Given the description of an element on the screen output the (x, y) to click on. 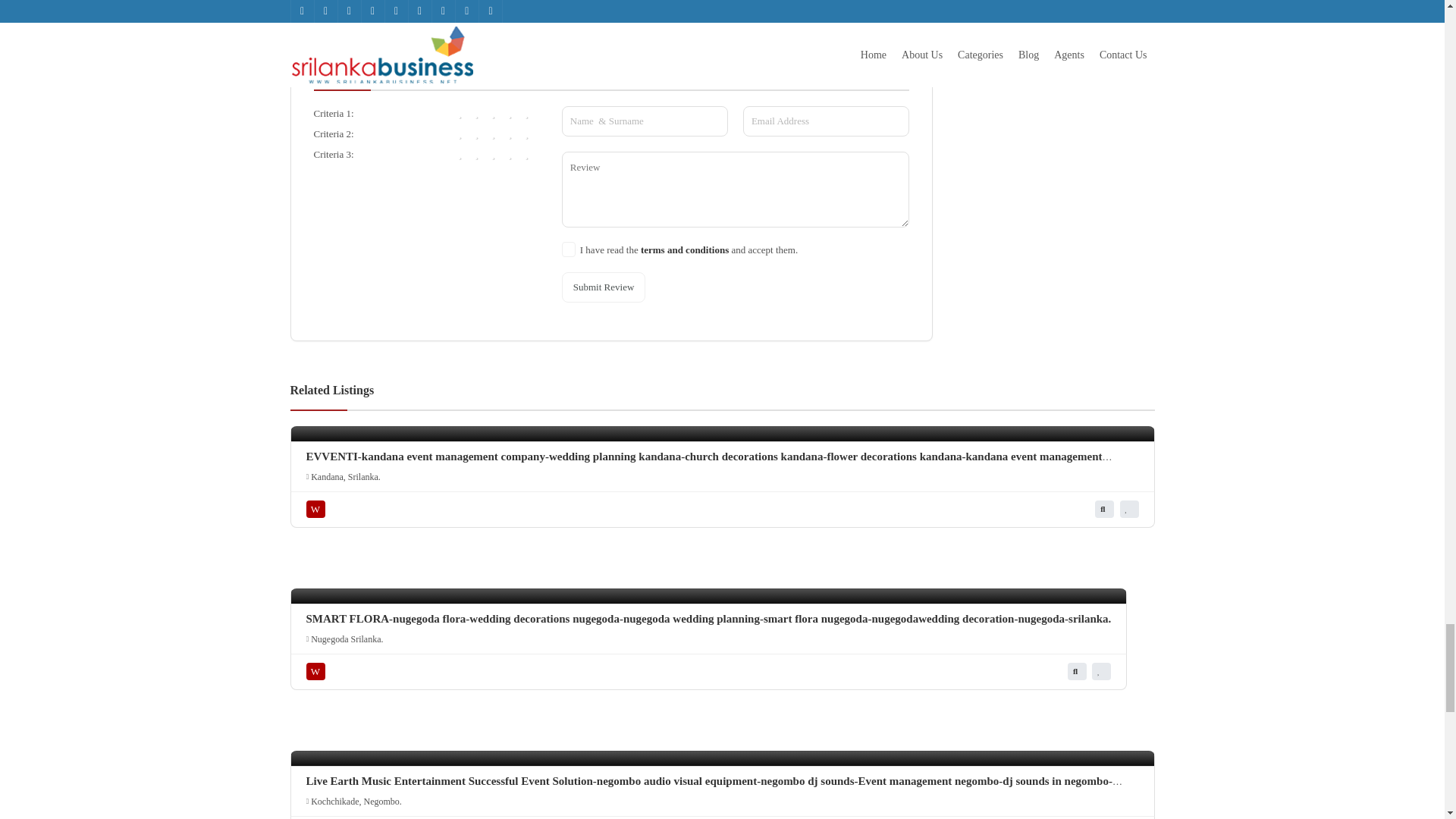
Wedding Planning (317, 671)
Wedding Planning (317, 508)
Add to Favorites (1128, 508)
Quick Preview (1103, 508)
